Given the description of an element on the screen output the (x, y) to click on. 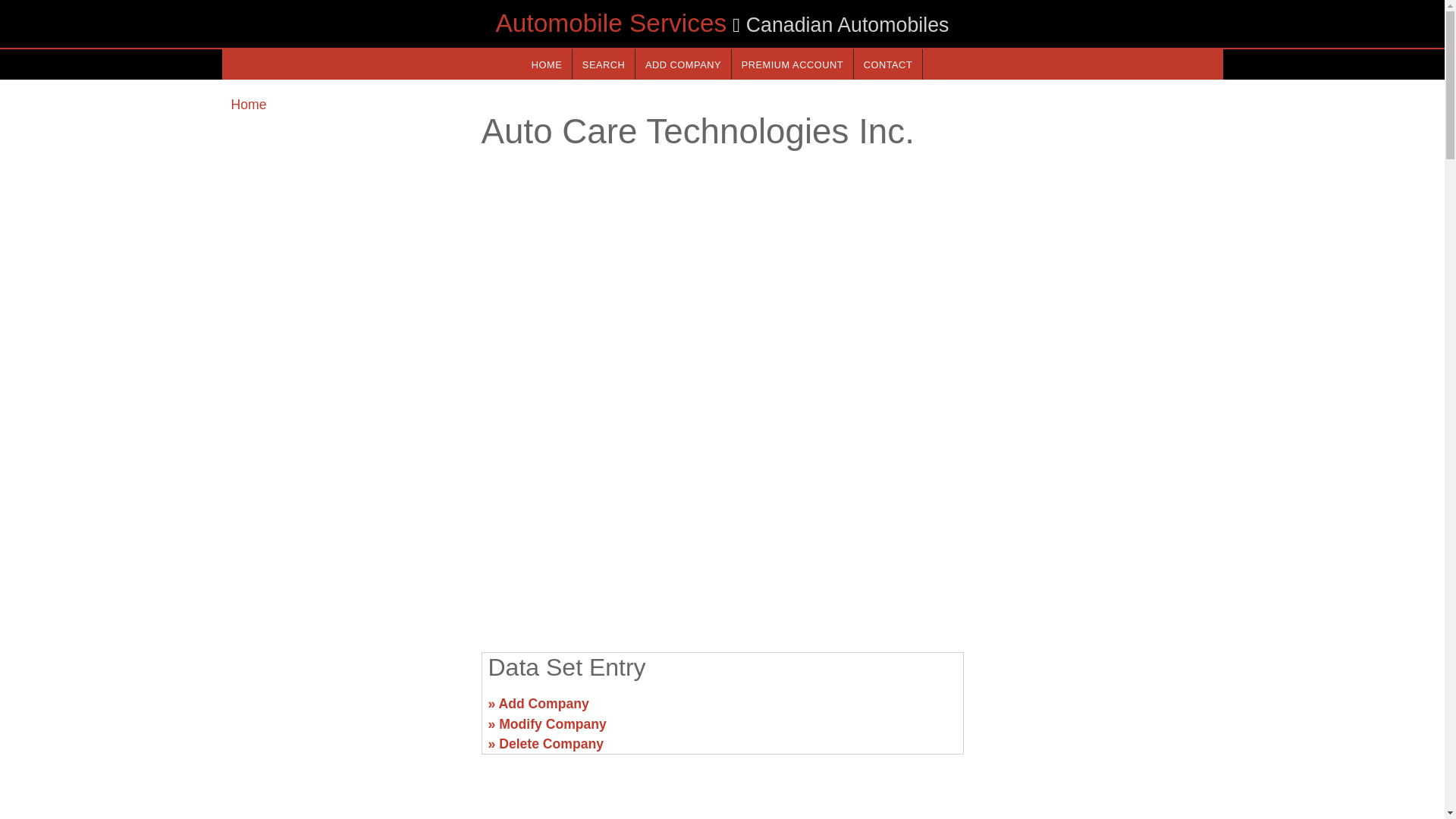
PREMIUM ACCOUNT (792, 64)
CONTACT (887, 64)
Search in this webseite. (603, 64)
Advertisement (346, 710)
Advertisement (721, 522)
Automobile Services (611, 22)
HOME (546, 64)
Premium account (792, 64)
SEARCH (603, 64)
ADD COMPANY (682, 64)
